Given the description of an element on the screen output the (x, y) to click on. 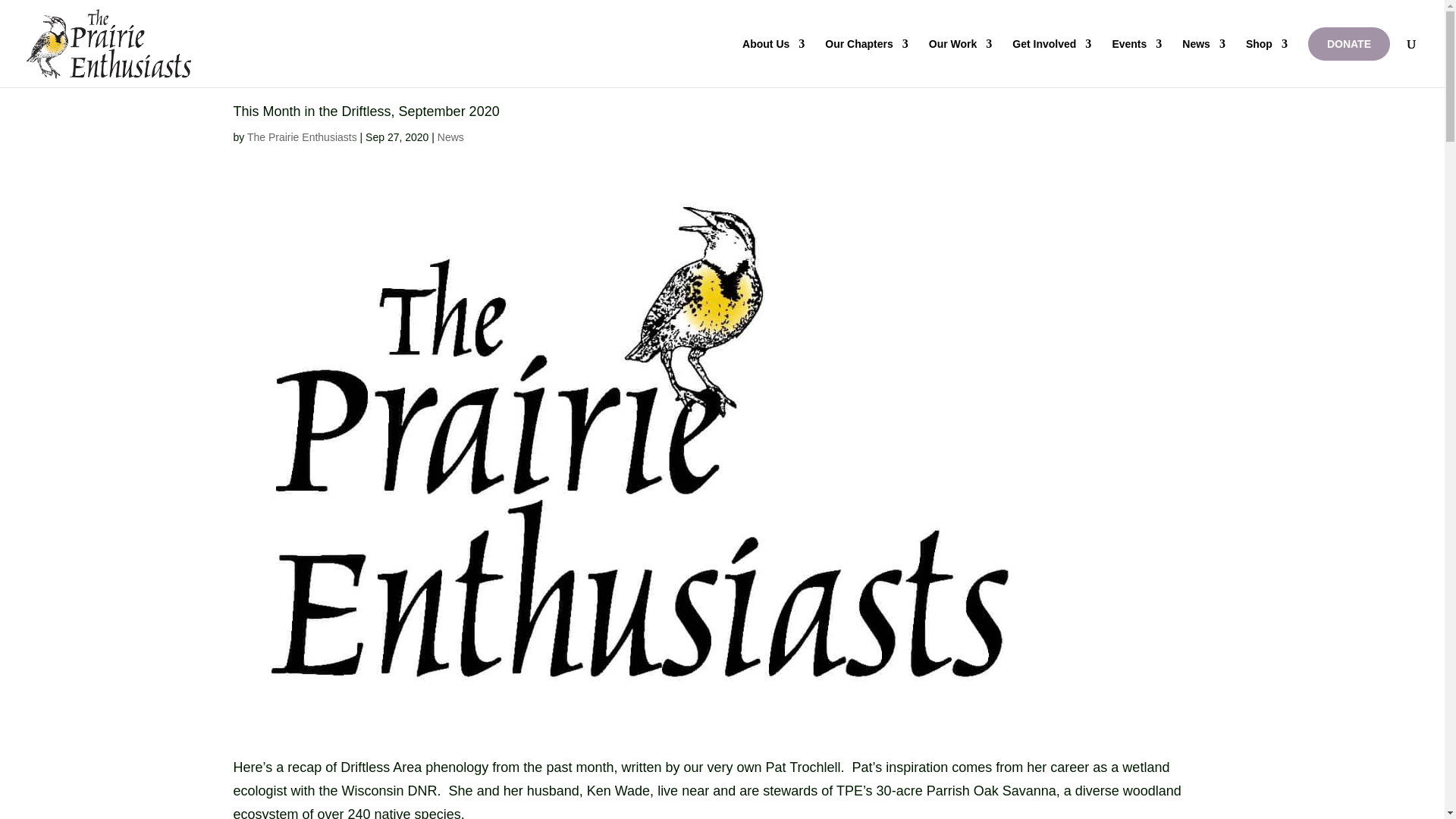
Our Chapters (866, 62)
Events (1136, 62)
Posts by The Prairie Enthusiasts (301, 137)
About Us (773, 62)
Get Involved (1050, 62)
Our Work (960, 62)
